Given the description of an element on the screen output the (x, y) to click on. 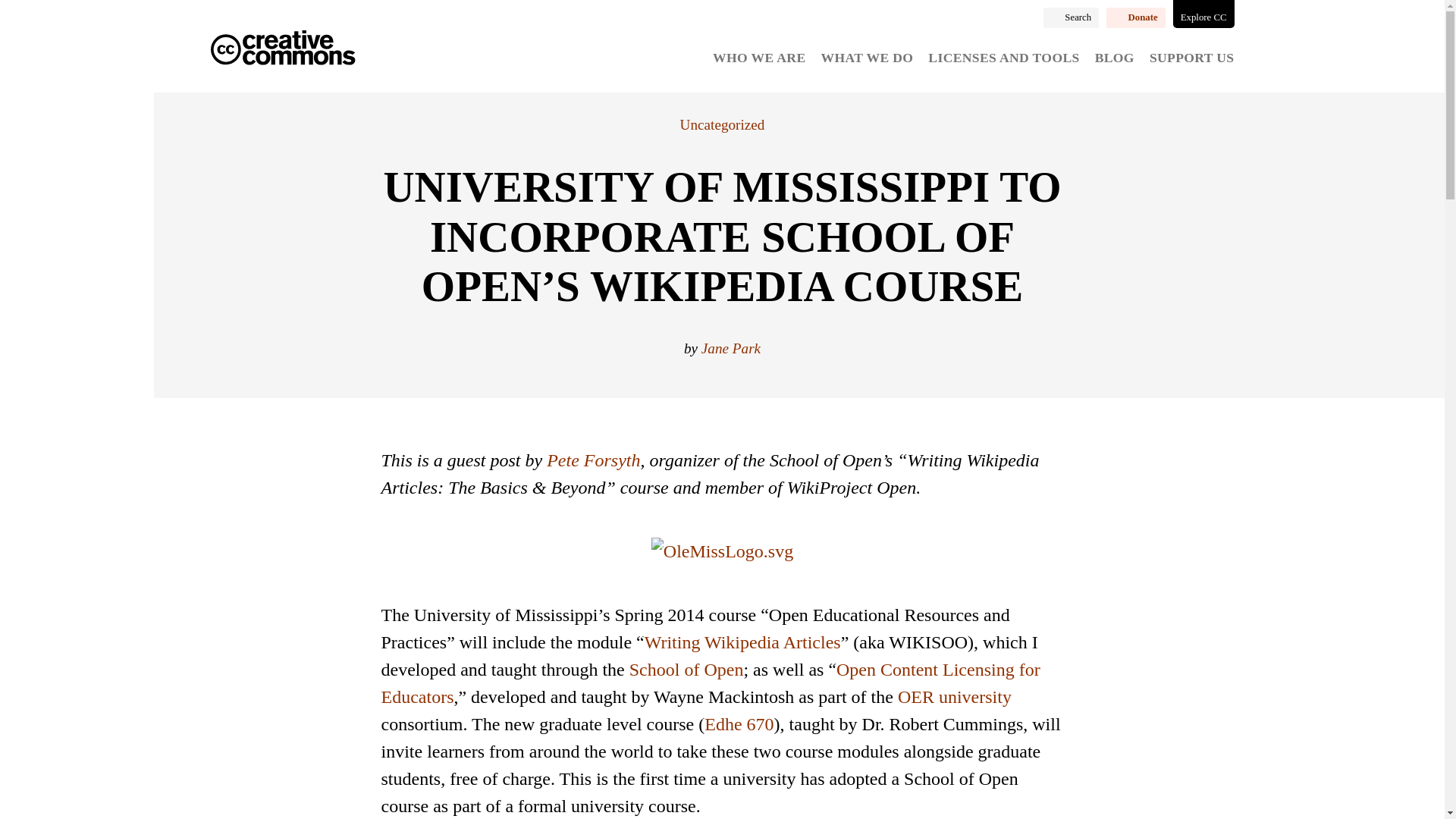
Open Content Licensing for Educators (709, 683)
Explore CC (1203, 13)
Uncategorized (722, 124)
Donate (1136, 17)
SUPPORT US (1192, 57)
LICENSES AND TOOLS (1003, 57)
Search (1071, 17)
WHO WE ARE (759, 57)
Creative Commons (283, 48)
OER university (954, 696)
Writing Wikipedia Articles (743, 641)
Pete Forsyth (593, 460)
WHAT WE DO (867, 57)
School of Open (686, 669)
Edhe 670 (738, 723)
